Given the description of an element on the screen output the (x, y) to click on. 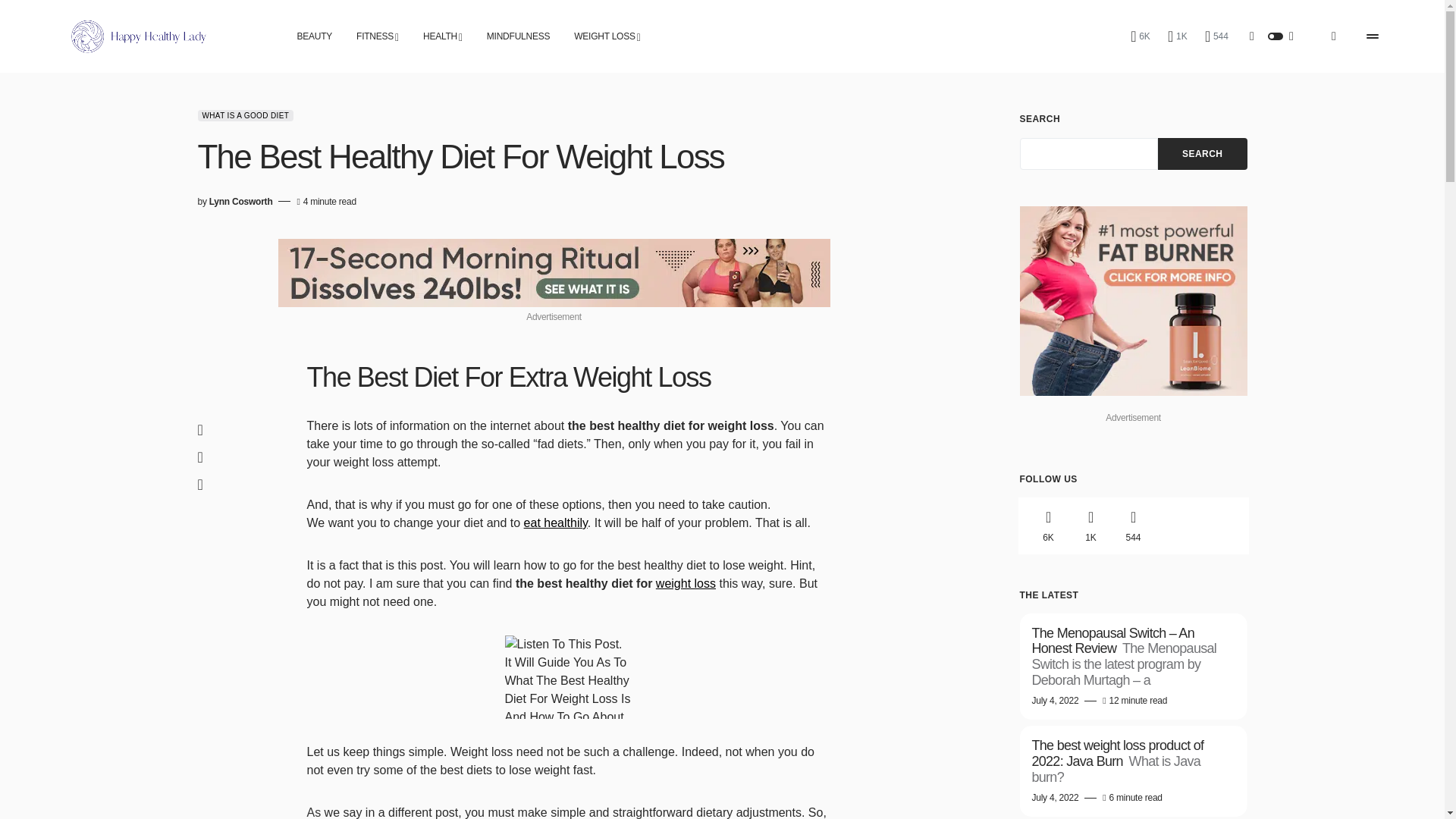
FITNESS (377, 36)
WEIGHT LOSS (606, 36)
HEALTH (443, 36)
BEAUTY (315, 36)
MINDFULNESS (518, 36)
View all posts by Lynn Cosworth (241, 201)
